Given the description of an element on the screen output the (x, y) to click on. 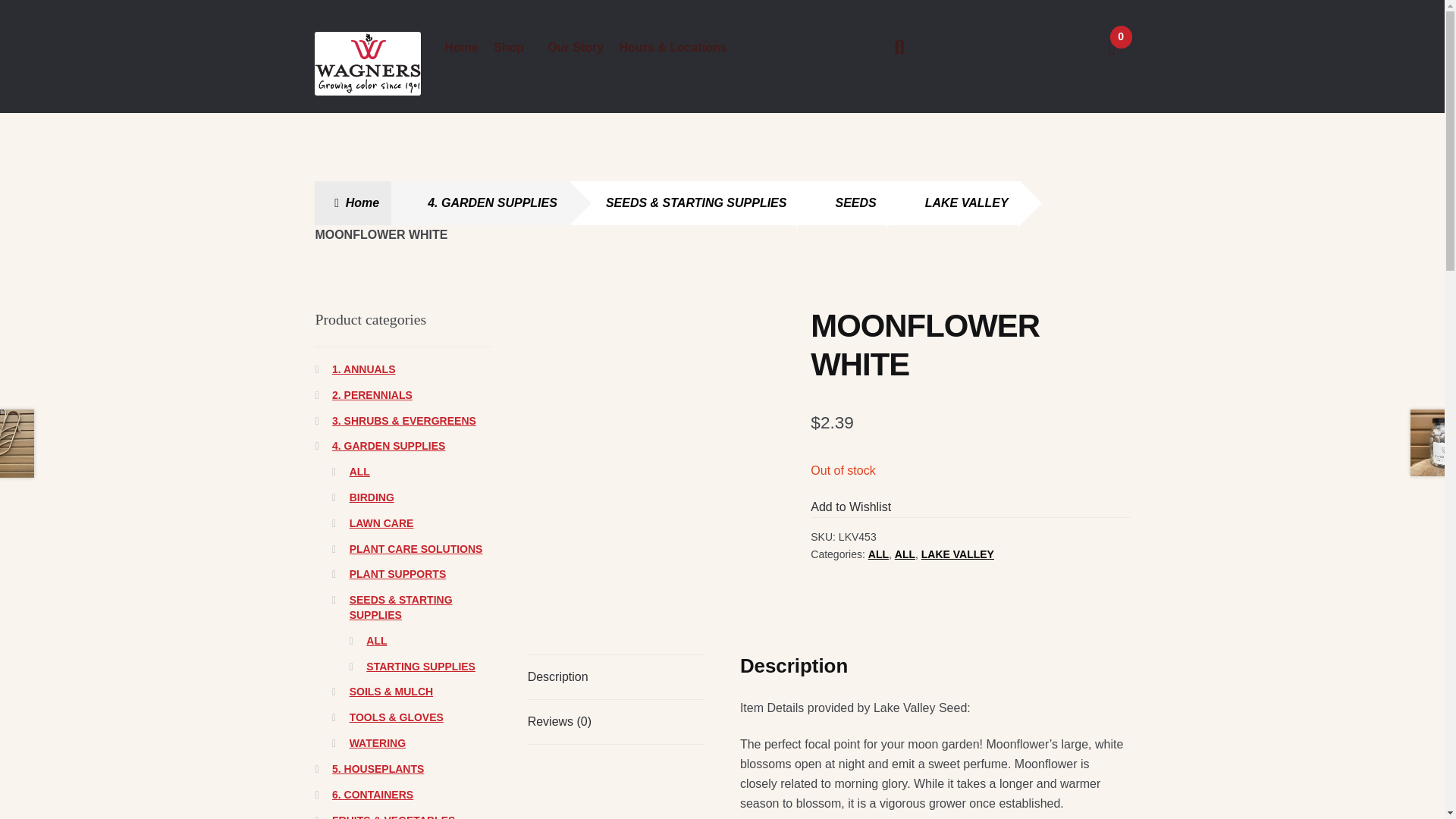
Home (460, 49)
Shop (512, 49)
